Given the description of an element on the screen output the (x, y) to click on. 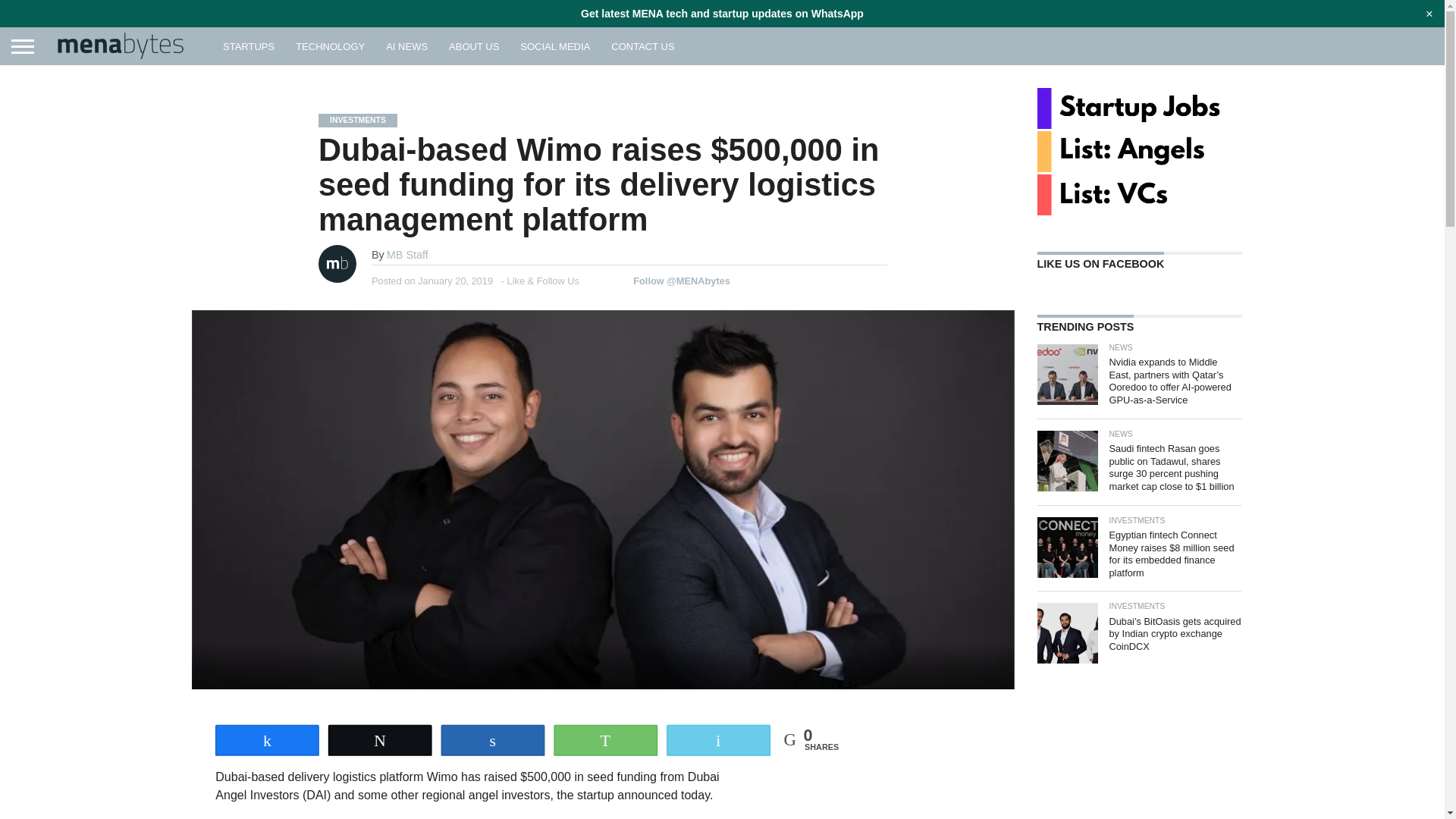
MB Staff (407, 254)
TECHNOLOGY (330, 46)
Get latest MENA tech and startup updates on WhatsApp (721, 13)
SOCIAL MEDIA (554, 46)
CONTACT US (641, 46)
AI NEWS (406, 46)
ABOUT US (473, 46)
STARTUPS (248, 46)
Posts by MB Staff (407, 254)
